Given the description of an element on the screen output the (x, y) to click on. 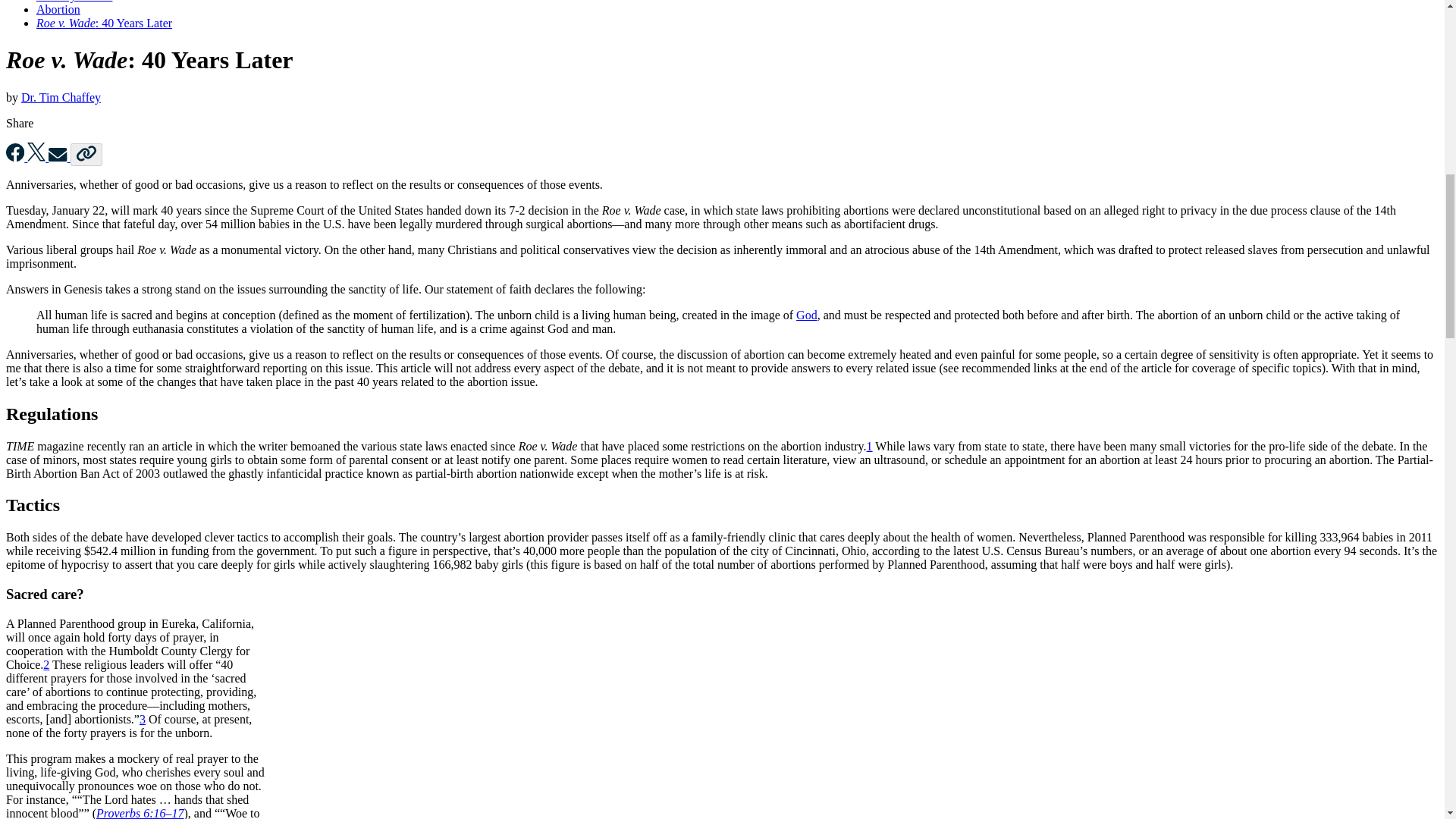
Dr. Tim Chaffey (60, 97)
Abortion (58, 9)
Sanctity of Life (74, 1)
Roe v. Wade: 40 Years Later (103, 22)
God (806, 314)
